Given the description of an element on the screen output the (x, y) to click on. 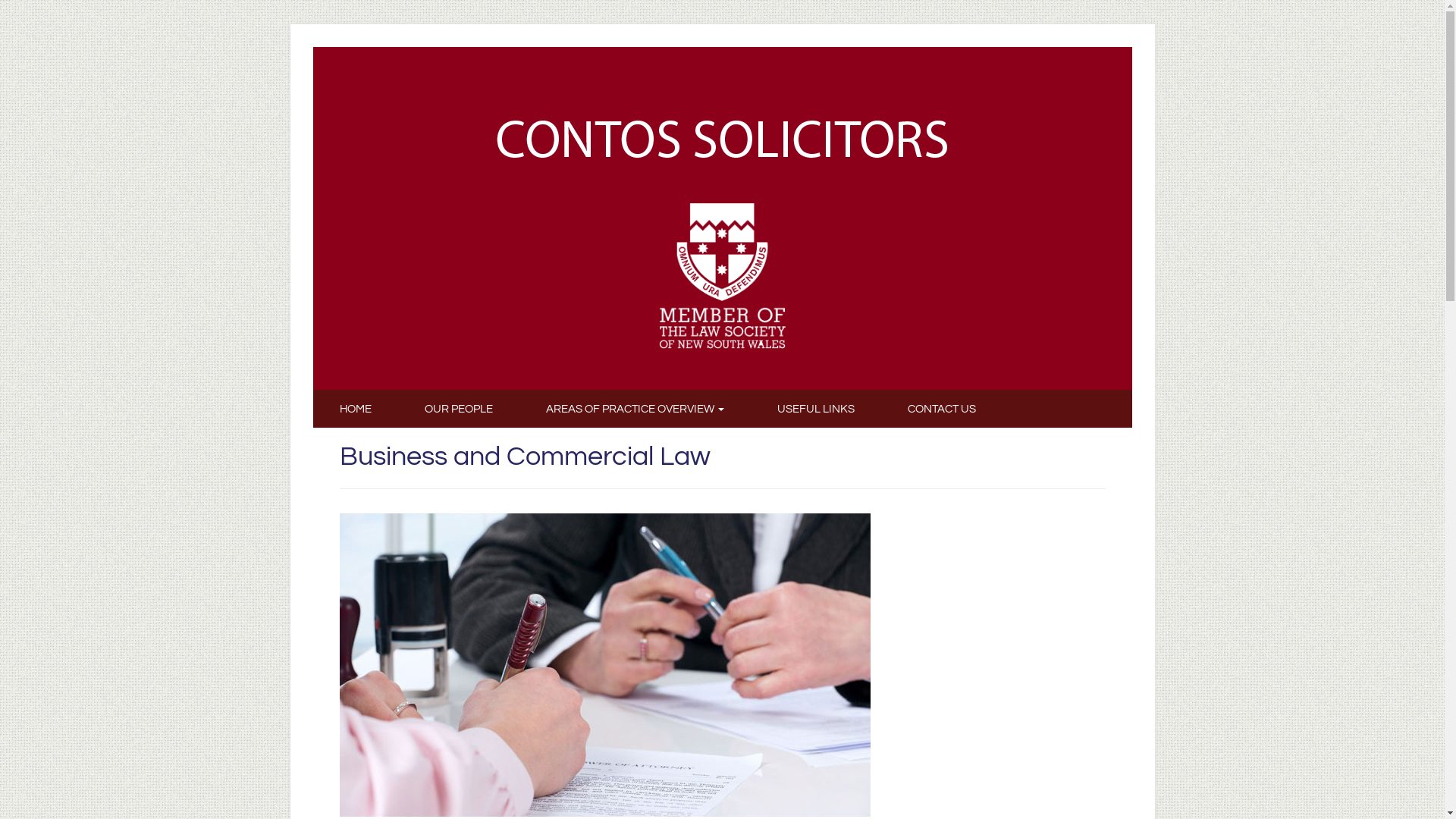
HOME Element type: text (354, 408)
CONTACT US Element type: text (941, 408)
Merrylands Law Practice Element type: hover (721, 138)
Contos Solicitors Element type: hover (721, 140)
Search Element type: text (39, 17)
USEFUL LINKS Element type: text (815, 408)
law society Element type: hover (721, 275)
OUR PEOPLE Element type: text (457, 408)
AREAS OF PRACTICE OVERVIEW Element type: text (633, 408)
